Given the description of an element on the screen output the (x, y) to click on. 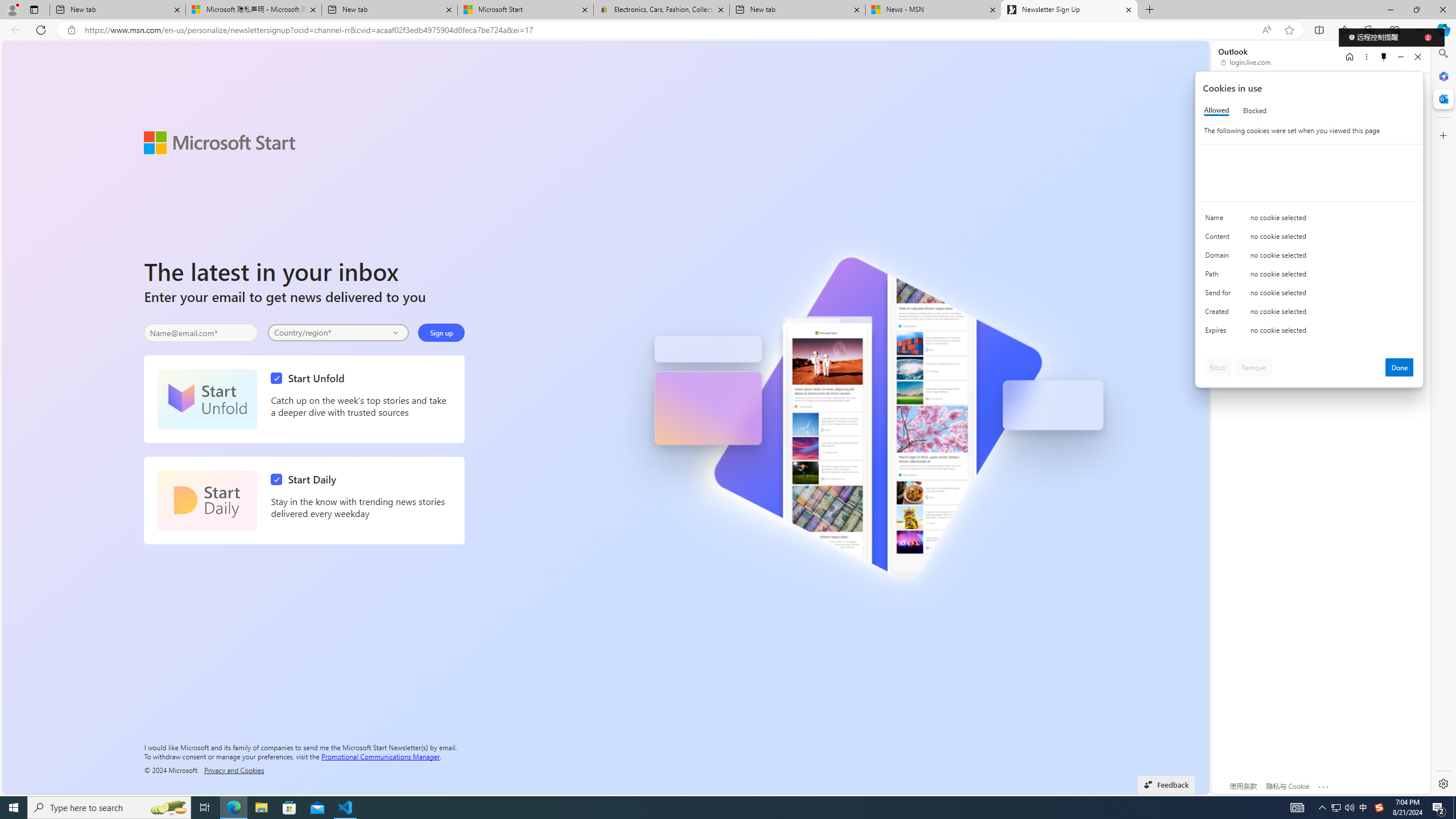
Promotional Communications Manager (380, 755)
Newsletter Sign Up (1068, 9)
Send for (1219, 295)
Select your country (338, 332)
Domain (1219, 257)
